Given the description of an element on the screen output the (x, y) to click on. 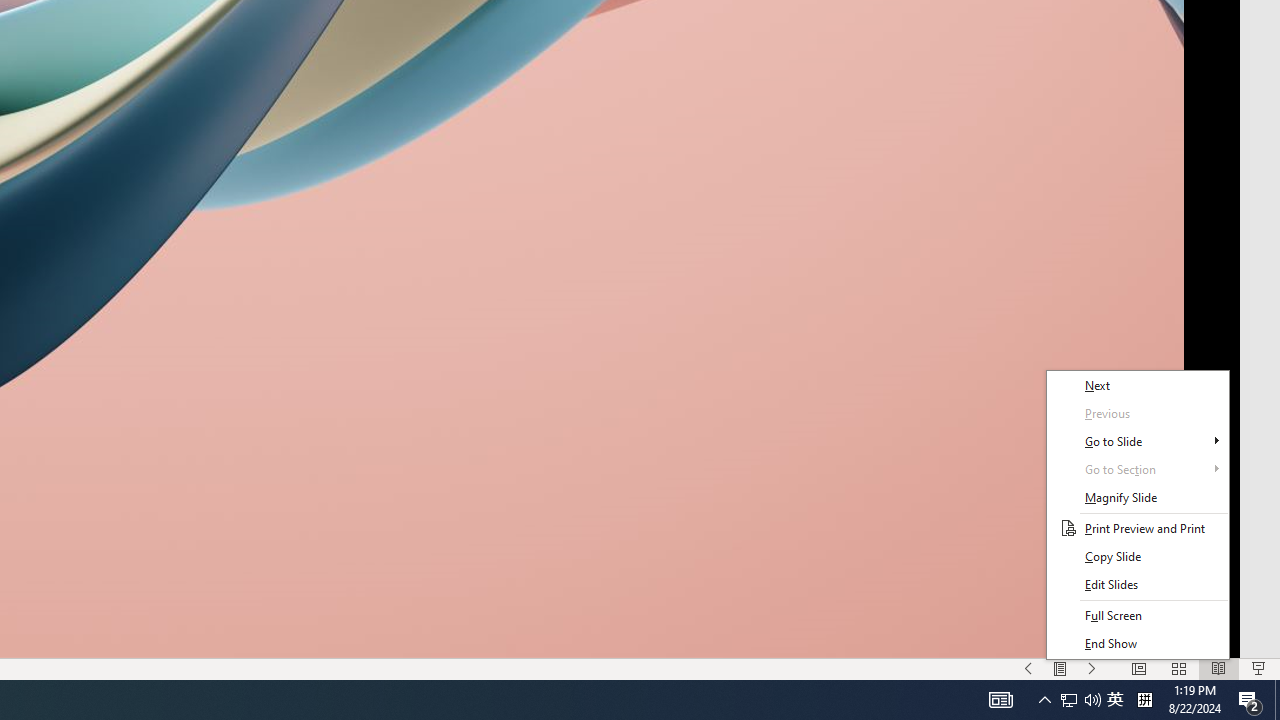
Magnify Slide (1137, 497)
Edit Slides (1137, 584)
Copy Slide (1137, 556)
Context Menu (1137, 515)
